Given the description of an element on the screen output the (x, y) to click on. 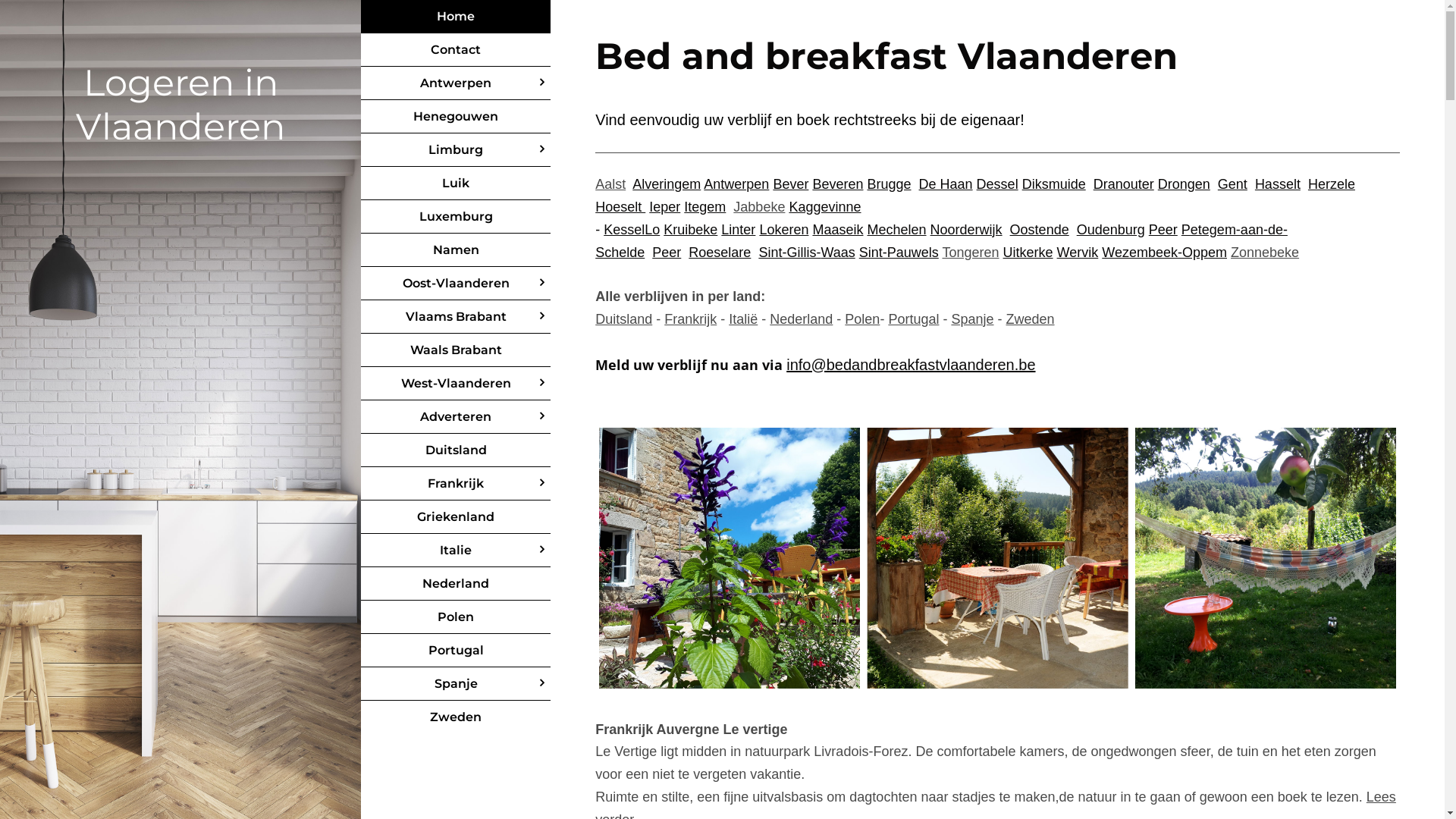
Oudenburg Element type: text (1110, 229)
Oost-Vlaanderen Element type: text (455, 282)
Henegouwen Element type: text (455, 116)
Peer Element type: text (666, 252)
Nederland Element type: text (455, 583)
Duitsland Element type: text (623, 318)
Peer Element type: text (1162, 229)
Wervik Element type: text (1077, 252)
Petegem-aan-de-Schelde Element type: text (941, 241)
Antwerpen Element type: text (735, 183)
Sint-Gillis- Element type: text (789, 252)
Bever Element type: text (790, 183)
Zonnebeke Element type: text (1264, 252)
Itegem Element type: text (704, 206)
Noorderwijk Element type: text (966, 229)
Sint-Pauwels Element type: text (898, 252)
Portugal Element type: text (455, 649)
Maaseik Element type: text (837, 229)
Nederland Element type: text (800, 318)
Brugge Element type: text (888, 183)
Aalst Element type: text (610, 183)
Portugal Element type: text (913, 318)
Mechelen Element type: text (896, 229)
Zweden Element type: text (1029, 318)
Kruibeke Element type: text (690, 229)
Waals Brabant Element type: text (455, 349)
Adverteren Element type: text (455, 416)
Polen Element type: text (861, 318)
Namen Element type: text (455, 249)
Italie Element type: text (455, 549)
Waas Element type: text (837, 252)
Oostende Element type: text (1039, 229)
Frankrijk Element type: text (690, 318)
Roeselare Element type: text (719, 252)
Linter Element type: text (738, 229)
West-Vlaanderen Element type: text (455, 383)
info@bedandbreakfastvlaanderen.be Element type: text (910, 364)
Gent Element type: text (1232, 183)
Spanje Element type: text (455, 683)
Jabbeke Element type: text (758, 206)
Griekenland Element type: text (455, 516)
Uitkerke Element type: text (1028, 252)
Duitsland Element type: text (455, 449)
Drongen Element type: text (1183, 183)
KesselLo Element type: text (631, 229)
Lokeren Element type: text (783, 229)
Hoeselt  Element type: text (620, 206)
Diksmuide Element type: text (1053, 183)
De Haan Element type: text (945, 183)
Herzele Element type: text (1331, 183)
Home Element type: text (455, 16)
Limburg Element type: text (455, 149)
Luxemburg Element type: text (455, 216)
Beveren Element type: text (837, 183)
Hasselt Element type: text (1277, 183)
Vlaams Brabant Element type: text (455, 316)
Frankrijk Element type: text (455, 483)
Wezembeek-Oppem Element type: text (1163, 252)
Contact Element type: text (455, 49)
Tongeren Element type: text (969, 252)
Alveringem Element type: text (666, 183)
Ieper Element type: text (664, 206)
Dessel Element type: text (997, 183)
Kaggevinne Element type: text (824, 206)
Antwerpen Element type: text (455, 82)
Dranouter Element type: text (1123, 183)
Luik Element type: text (455, 182)
Polen Element type: text (455, 616)
Spanje Element type: text (971, 318)
Zweden Element type: text (455, 716)
